Given the description of an element on the screen output the (x, y) to click on. 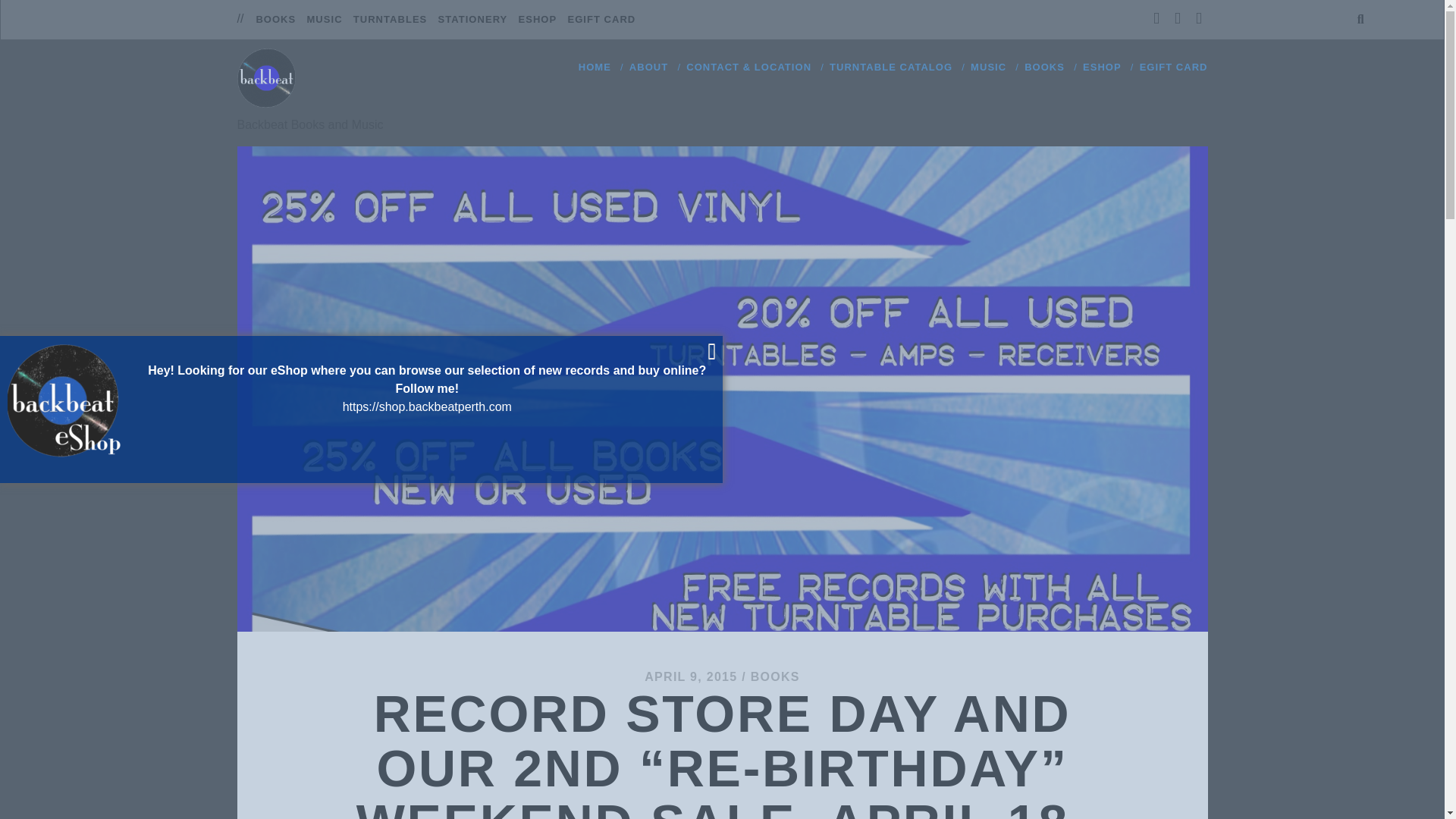
MUSIC (988, 67)
MUSIC (323, 19)
TURNTABLES (390, 19)
ESHOP (537, 19)
BOOKS (1044, 67)
ABOUT (648, 67)
EGIFT CARD (1174, 67)
TURNTABLE CATALOG (890, 67)
BOOKS (775, 676)
ESHOP (1102, 67)
STATIONERY (473, 19)
BOOKS (275, 19)
EGIFT CARD (600, 19)
HOME (594, 67)
